Given the description of an element on the screen output the (x, y) to click on. 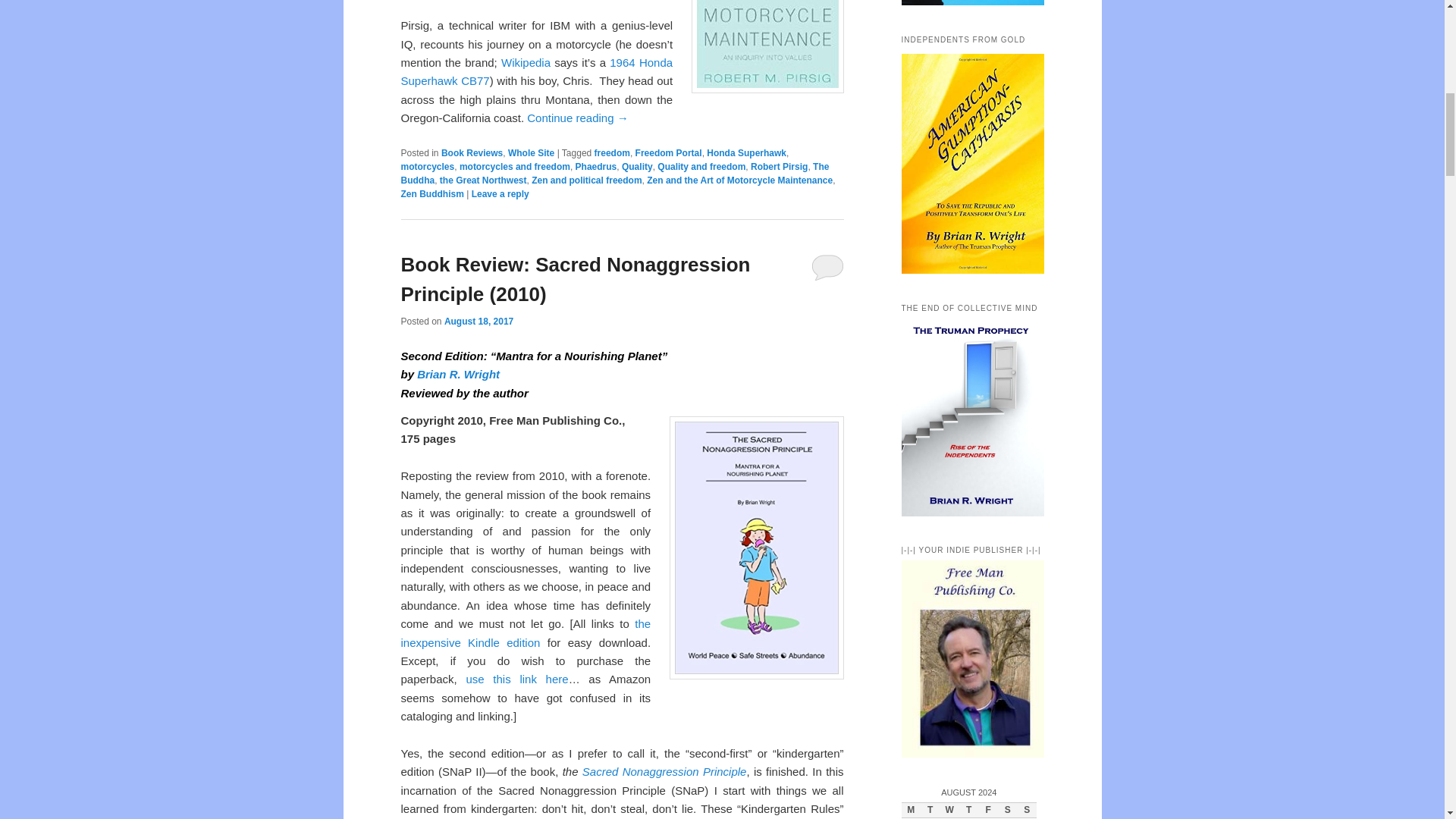
Wikipedia (525, 62)
Freedom Portal (667, 153)
Monday (910, 810)
freedom (612, 153)
Honda Superhawk (746, 153)
1964 Honda Superhawk CB77 (536, 71)
Book Reviews (471, 153)
19:33 (478, 321)
Whole Site (531, 153)
